Given the description of an element on the screen output the (x, y) to click on. 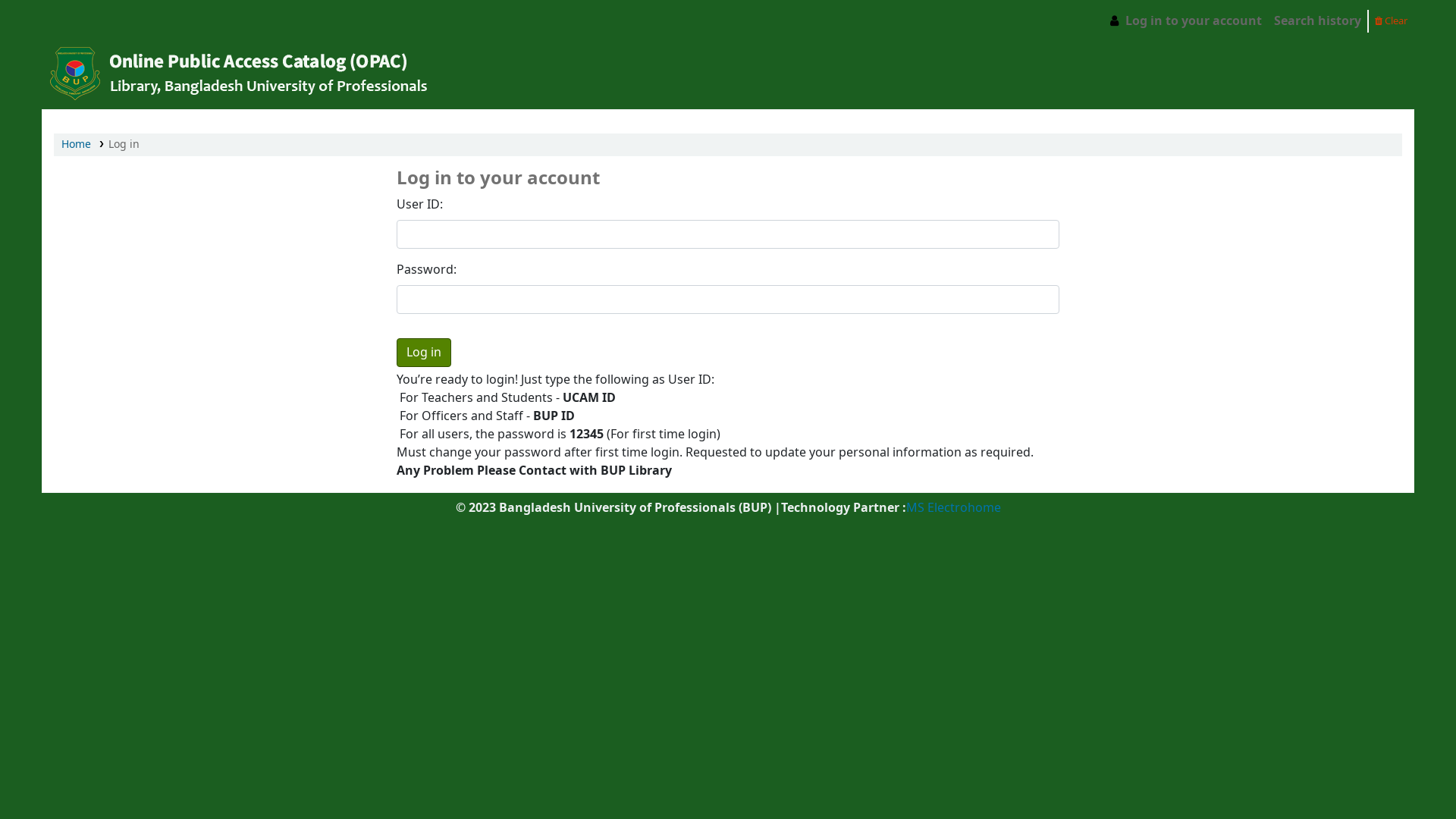
Search history Element type: text (1317, 21)
Log in to your account Element type: text (1183, 21)
MS Electrohome Element type: text (952, 507)
Bangladesh University of Professionals Library Element type: text (80, 21)
Log in Element type: text (123, 144)
Log in Element type: text (423, 352)
Clear Element type: text (1390, 20)
Home Element type: text (76, 144)
